Given the description of an element on the screen output the (x, y) to click on. 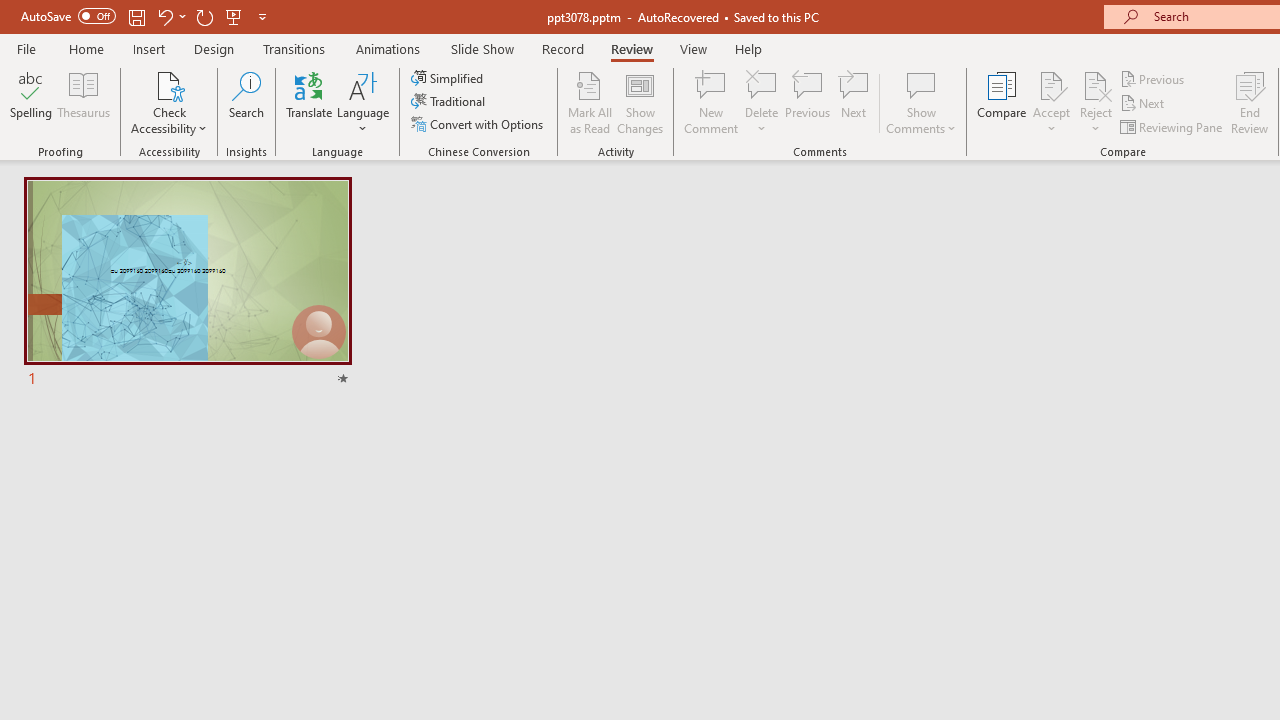
Delete (762, 102)
Check Accessibility (169, 102)
Reject Change (1096, 84)
Traditional (449, 101)
End Review (1249, 102)
Reviewing Pane (1172, 126)
